Given the description of an element on the screen output the (x, y) to click on. 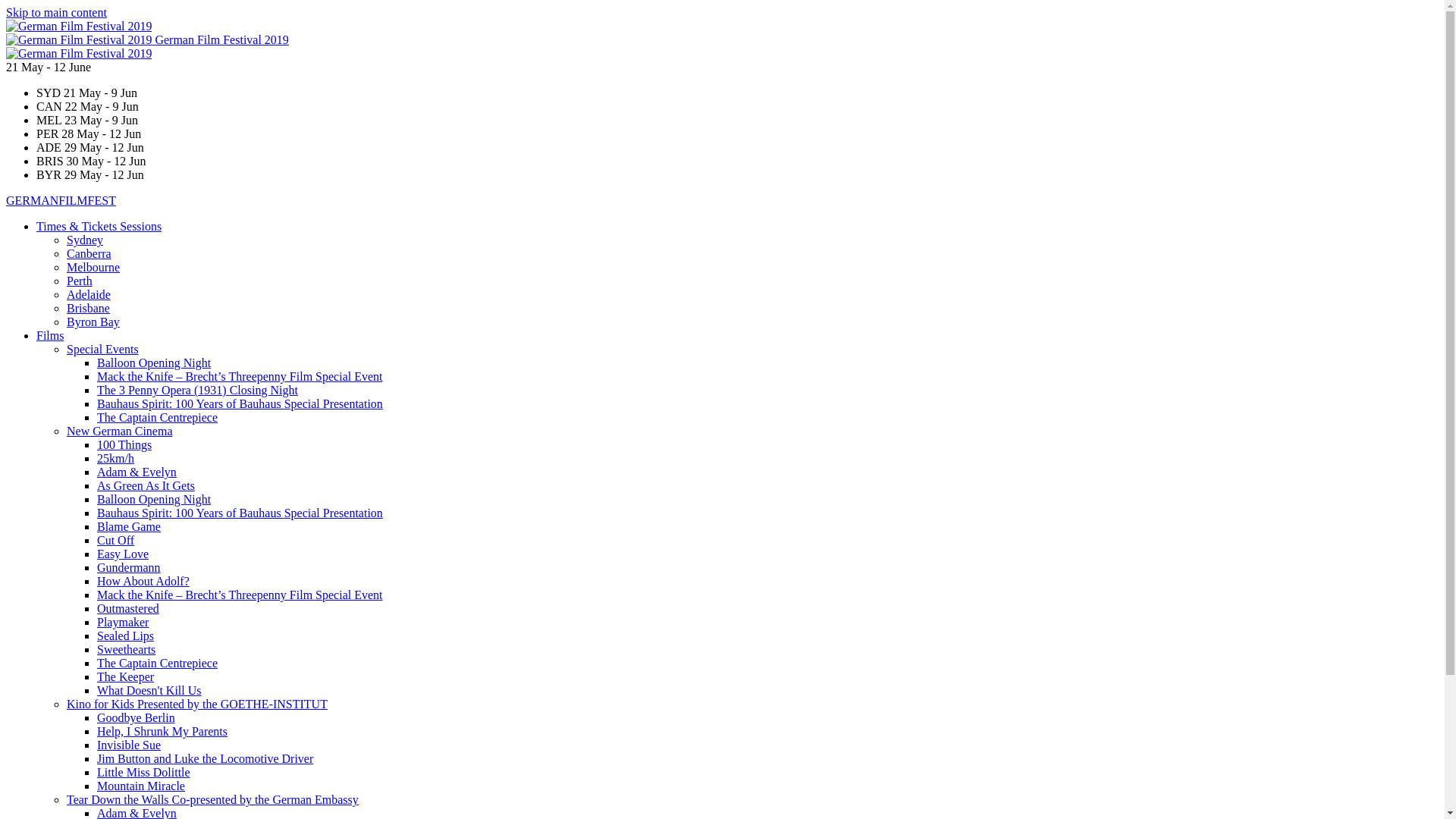
Skip to main content Element type: text (56, 12)
German Film Festival 2019 Element type: hover (78, 53)
The Keeper Element type: text (125, 676)
Goodbye Berlin Element type: text (136, 717)
Little Miss Dolittle Element type: text (143, 771)
Special Events Element type: text (102, 348)
Easy Love Element type: text (122, 553)
The 3 Penny Opera (1931) Closing Night Element type: text (197, 389)
Playmaker Element type: text (122, 621)
New German Cinema Element type: text (119, 430)
Balloon Opening Night Element type: text (153, 498)
How About Adolf? Element type: text (143, 580)
Sealed Lips Element type: text (125, 635)
Films Element type: text (49, 335)
Tear Down the Walls Co-presented by the German Embassy Element type: text (212, 799)
Canberra Element type: text (88, 253)
Help, I Shrunk My Parents Element type: text (162, 730)
100 Things Element type: text (124, 444)
Mountain Miracle Element type: text (141, 785)
Invisible Sue Element type: text (128, 744)
Bauhaus Spirit: 100 Years of Bauhaus Special Presentation Element type: text (239, 403)
Bauhaus Spirit: 100 Years of Bauhaus Special Presentation Element type: text (239, 512)
Adelaide Element type: text (88, 294)
Perth Element type: text (79, 280)
What Doesn't Kill Us Element type: text (149, 690)
German Film Festival 2019 Element type: hover (80, 39)
Outmastered Element type: text (128, 608)
Blame Game Element type: text (128, 526)
Times & Tickets Sessions Element type: text (98, 225)
Gundermann Element type: text (128, 567)
Melbourne Element type: text (92, 266)
Cut Off Element type: text (115, 539)
Adam & Evelyn Element type: text (136, 471)
GERMANFILMFEST Element type: text (61, 200)
Jim Button and Luke the Locomotive Driver Element type: text (205, 758)
Brisbane Element type: text (87, 307)
Balloon Opening Night Element type: text (153, 362)
Sydney Element type: text (84, 239)
German Film Festival 2019 Element type: text (221, 39)
Sweethearts Element type: text (126, 649)
The Captain Centrepiece Element type: text (157, 417)
The Captain Centrepiece Element type: text (157, 662)
As Green As It Gets Element type: text (145, 485)
25km/h Element type: text (115, 457)
Byron Bay Element type: text (92, 321)
Kino for Kids Presented by the GOETHE-INSTITUT Element type: text (196, 703)
